Given the description of an element on the screen output the (x, y) to click on. 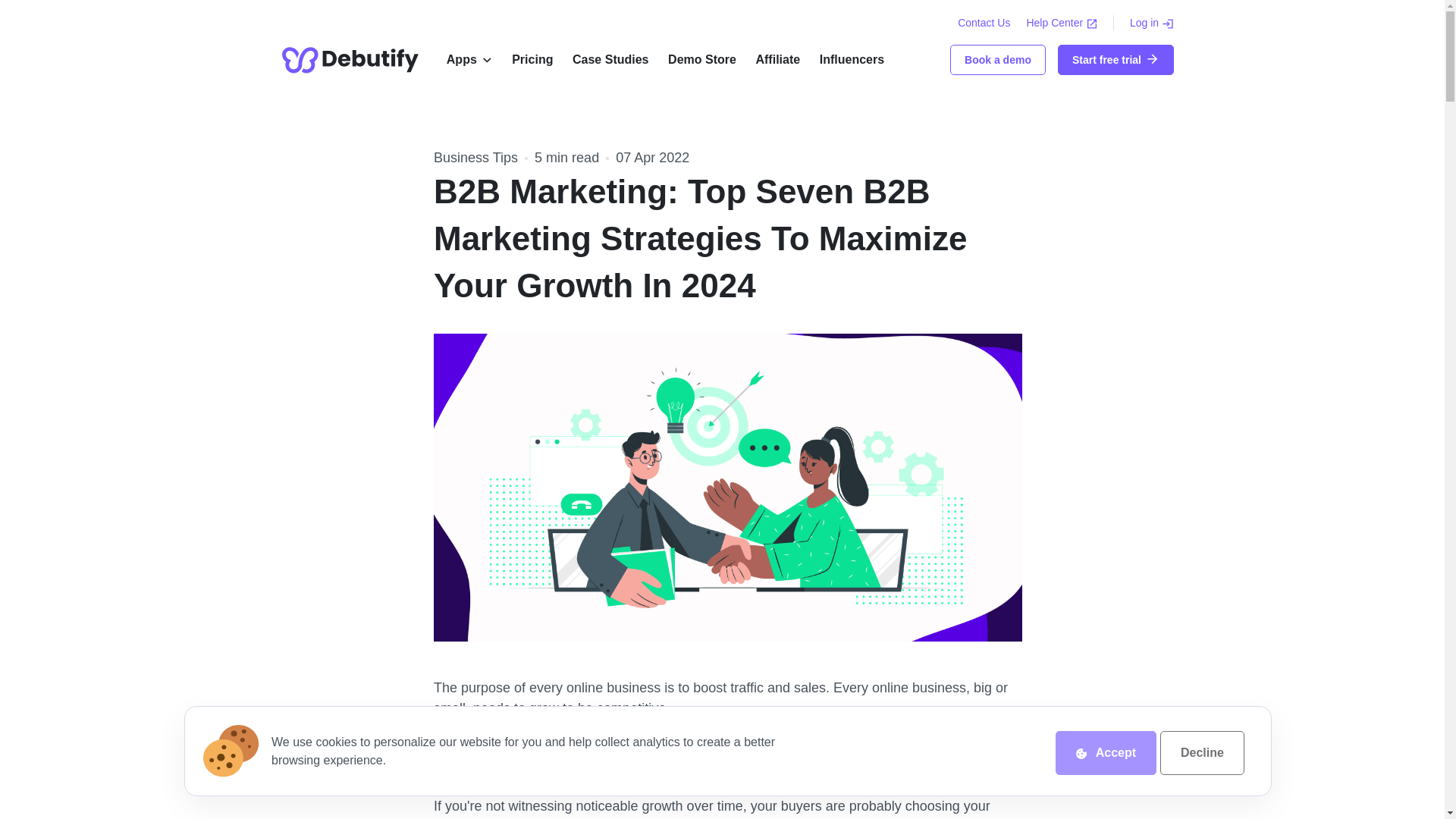
Help Center (1063, 22)
Apps (461, 60)
Start free trial (1115, 60)
Case Studies (610, 60)
Book a demo (997, 60)
Demo Store (701, 60)
Influencers (851, 60)
Log in (1151, 22)
Contact Us (984, 22)
Pricing (532, 60)
Affiliate (777, 60)
